Given the description of an element on the screen output the (x, y) to click on. 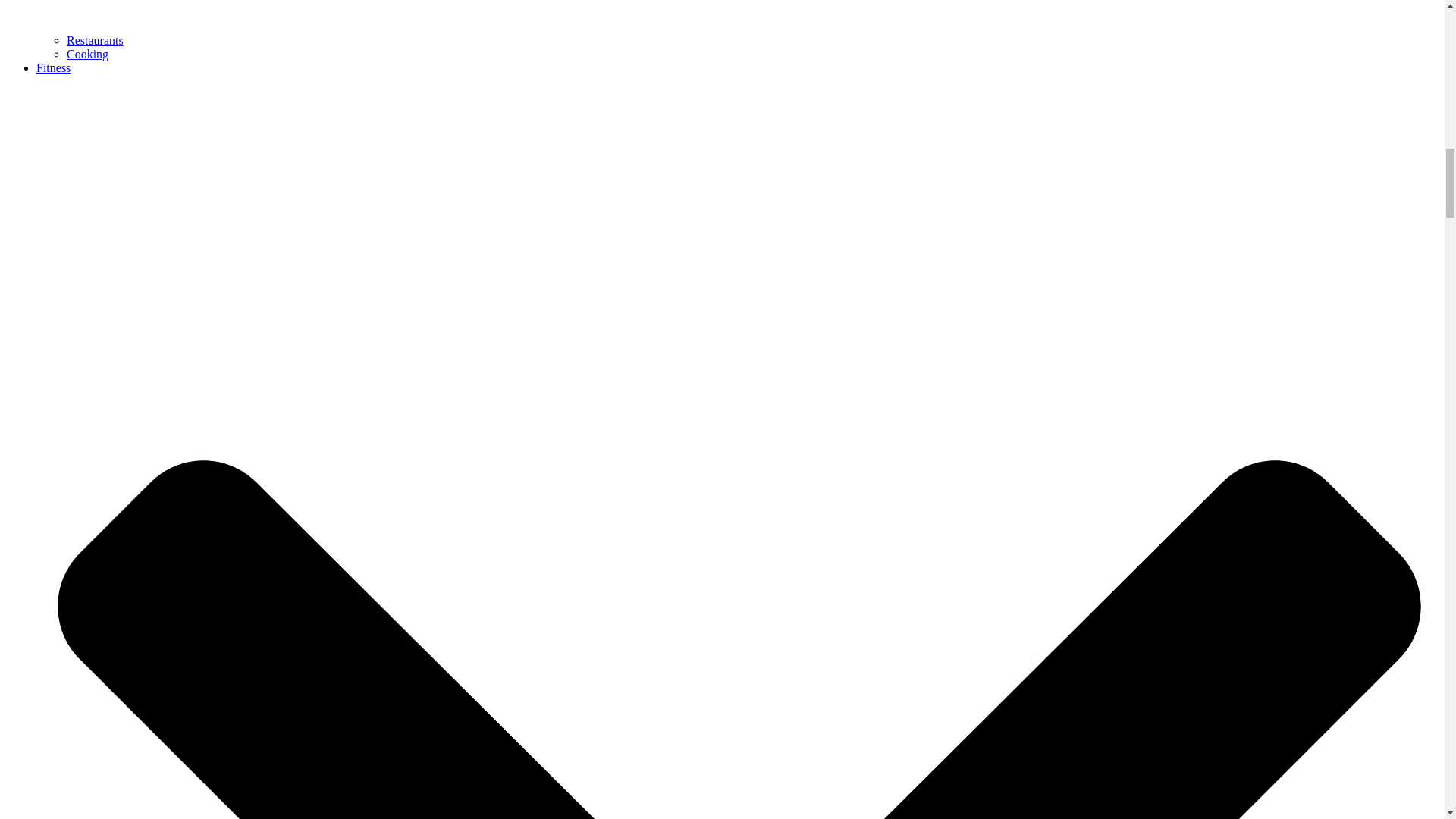
Cooking (86, 53)
Restaurants (94, 40)
Fitness (52, 67)
